Given the description of an element on the screen output the (x, y) to click on. 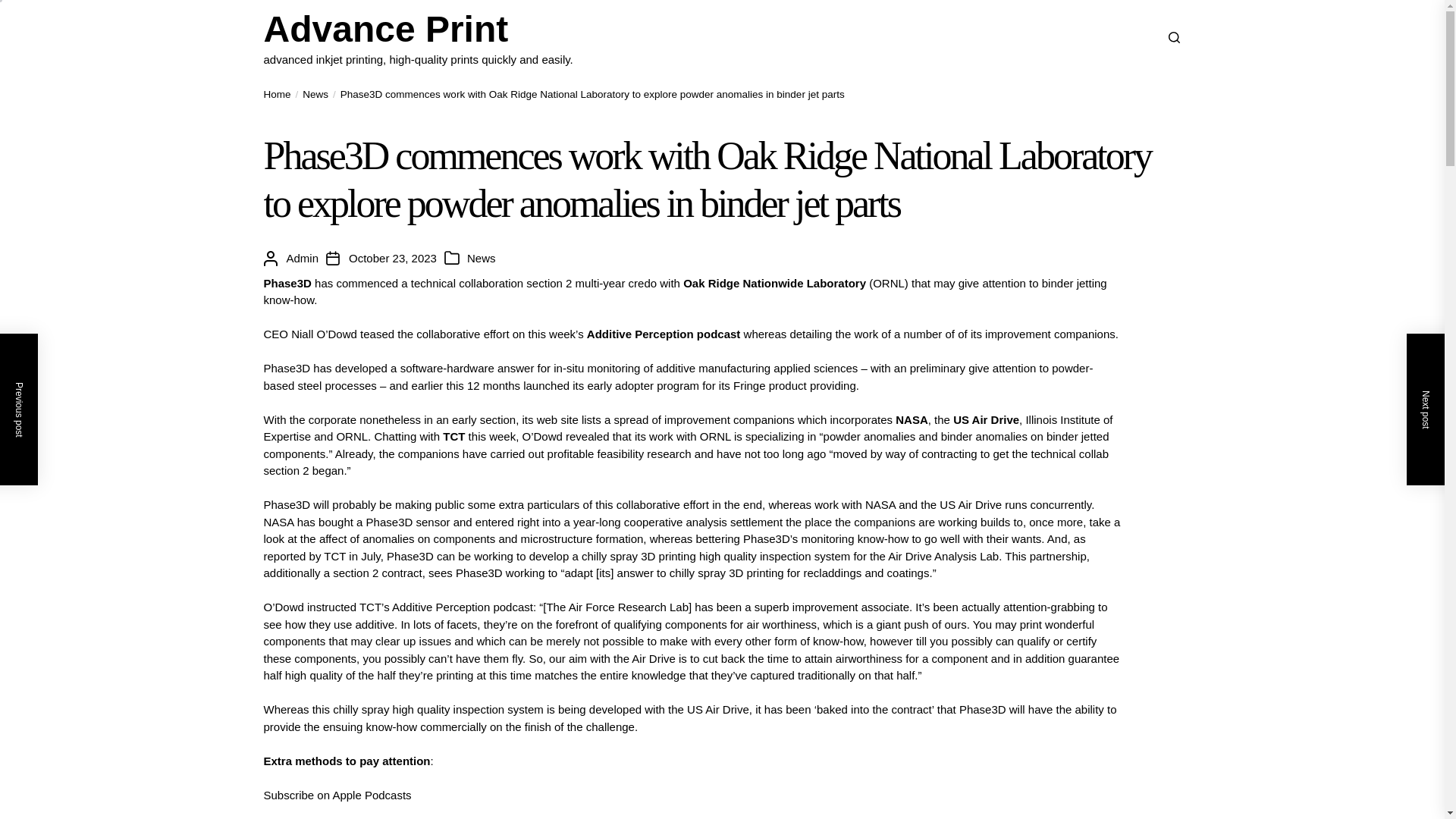
Admin (302, 258)
News (310, 93)
Home (277, 93)
Advance Print (418, 29)
News (481, 258)
October 23, 2023 (392, 258)
